Given the description of an element on the screen output the (x, y) to click on. 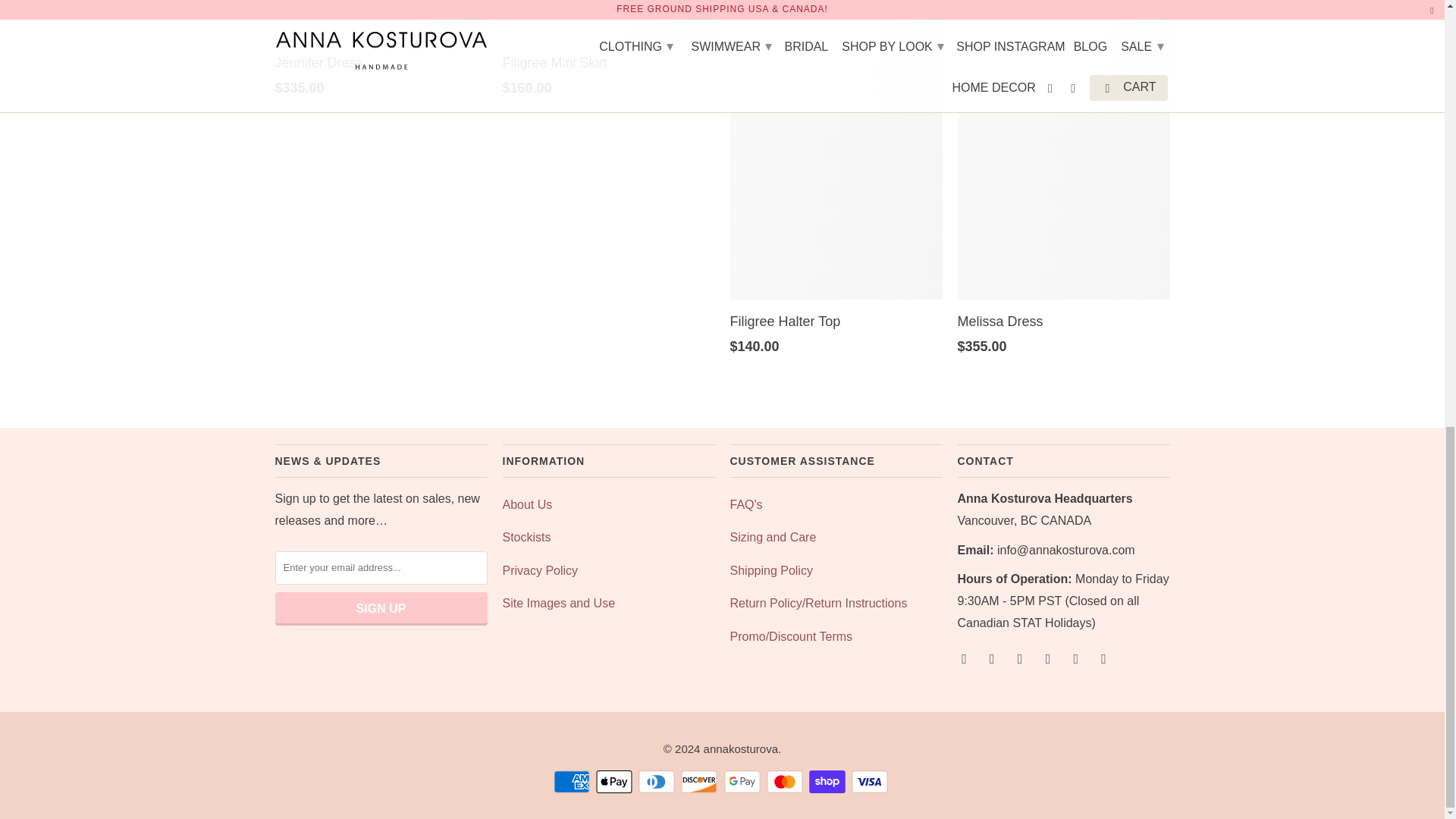
Diners Club (658, 781)
American Express (572, 781)
Mastercard (786, 781)
Google Pay (742, 781)
Visa (871, 781)
Apple Pay (614, 781)
Sign Up (380, 608)
Shop Pay (828, 781)
Discover (700, 781)
